Given the description of an element on the screen output the (x, y) to click on. 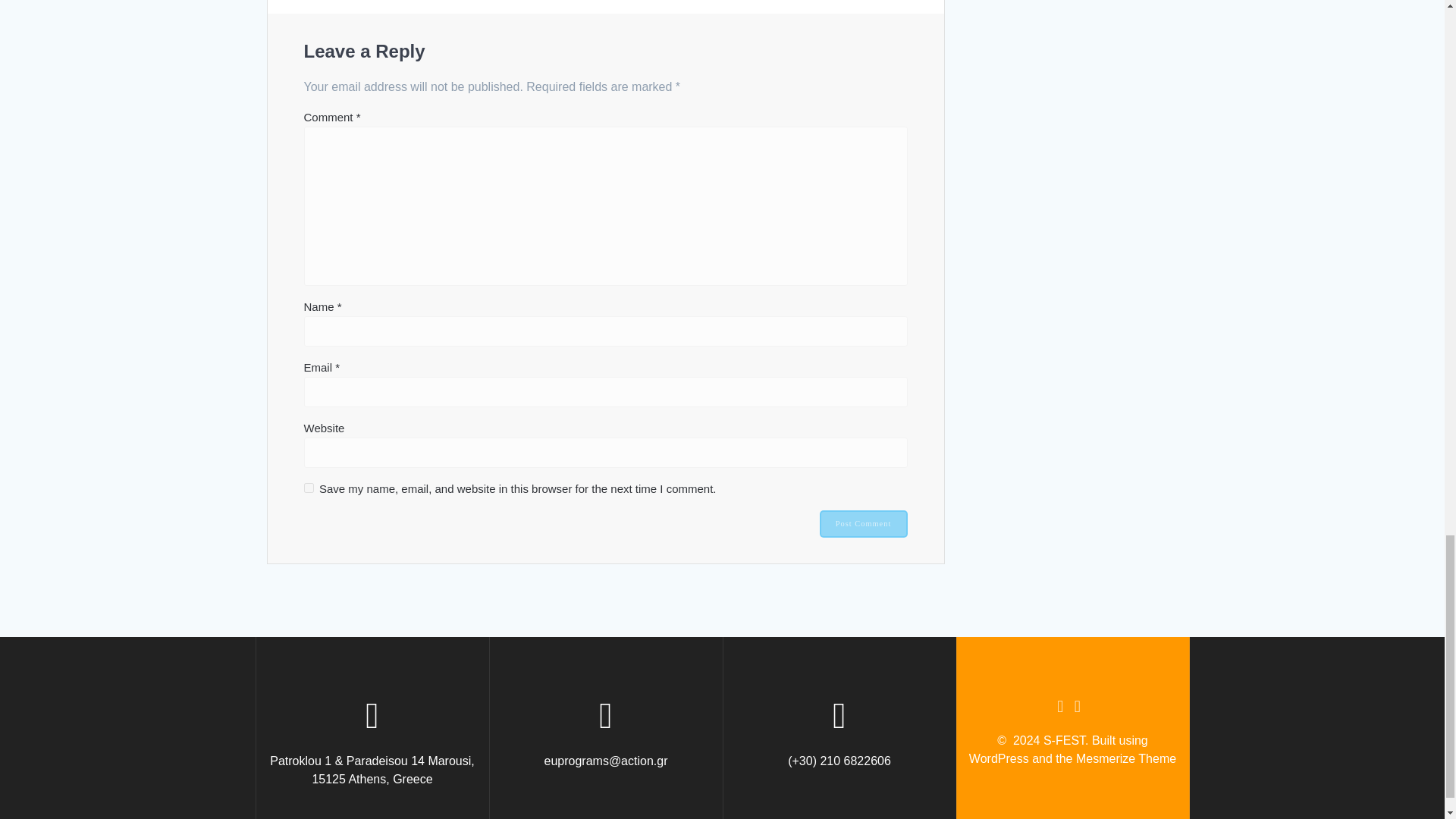
Post Comment (863, 523)
Post Comment (863, 523)
yes (307, 488)
Mesmerize Theme (1125, 758)
